Given the description of an element on the screen output the (x, y) to click on. 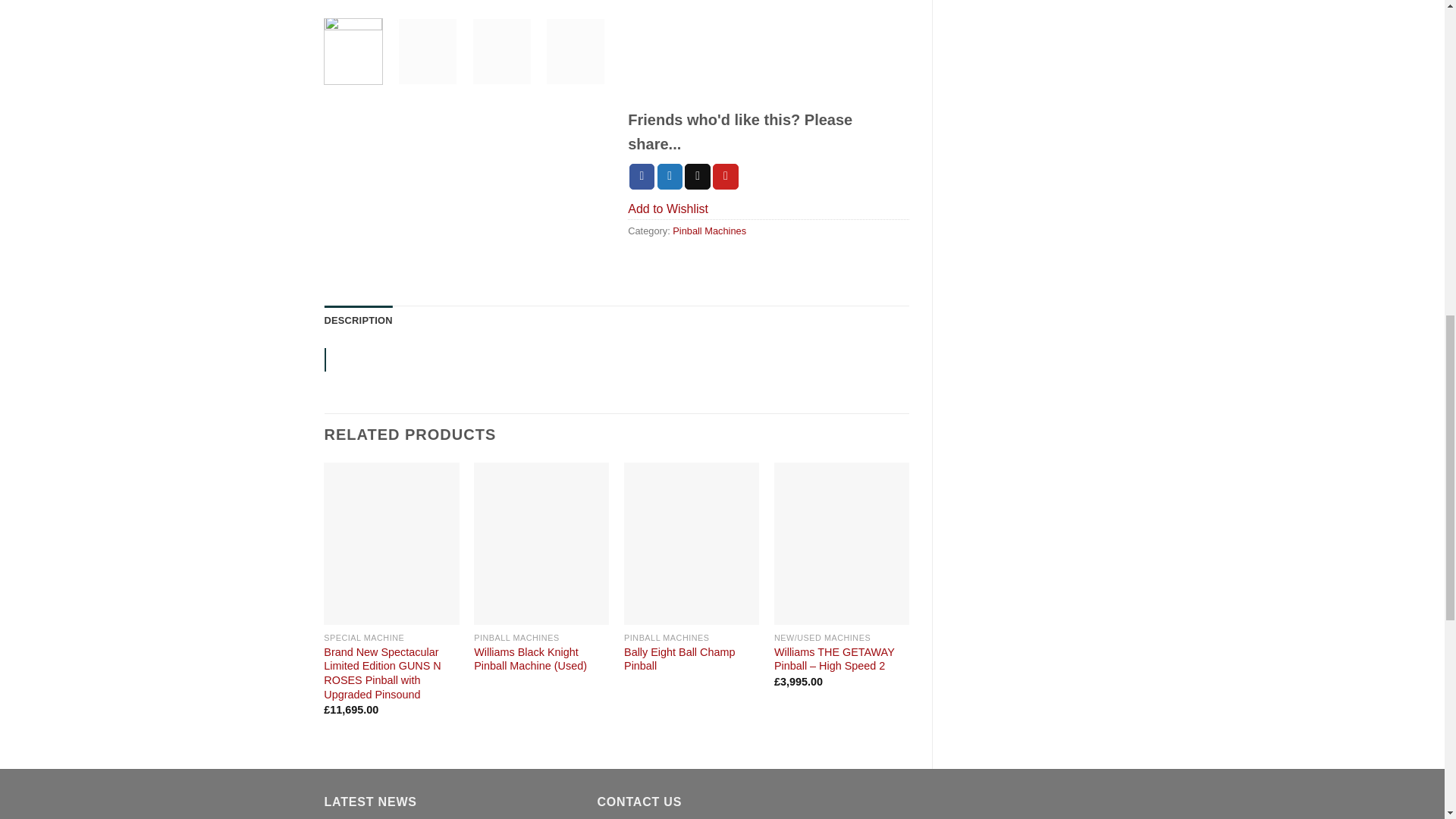
Email to a Friend (697, 176)
Share on Facebook (641, 176)
Share on Twitter (670, 176)
